Given the description of an element on the screen output the (x, y) to click on. 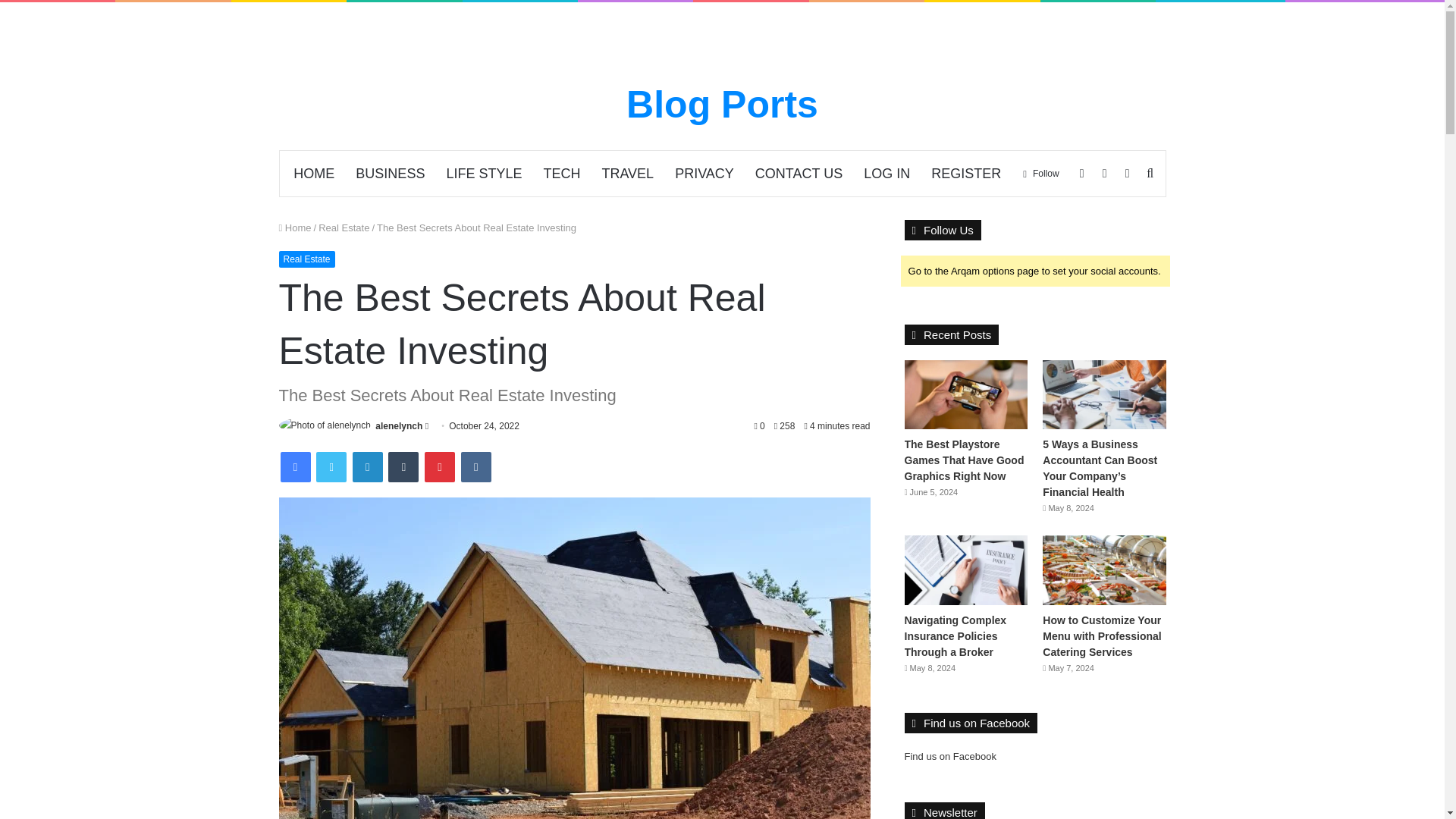
Home (295, 227)
Twitter (330, 467)
Facebook (296, 467)
Pinterest (439, 467)
Facebook (296, 467)
Real Estate (343, 227)
PRIVACY (703, 173)
Blog Ports (722, 104)
VKontakte (476, 467)
TRAVEL (627, 173)
Tumblr (403, 467)
Real Estate (306, 258)
REGISTER (965, 173)
LinkedIn (367, 467)
LOG IN (886, 173)
